Given the description of an element on the screen output the (x, y) to click on. 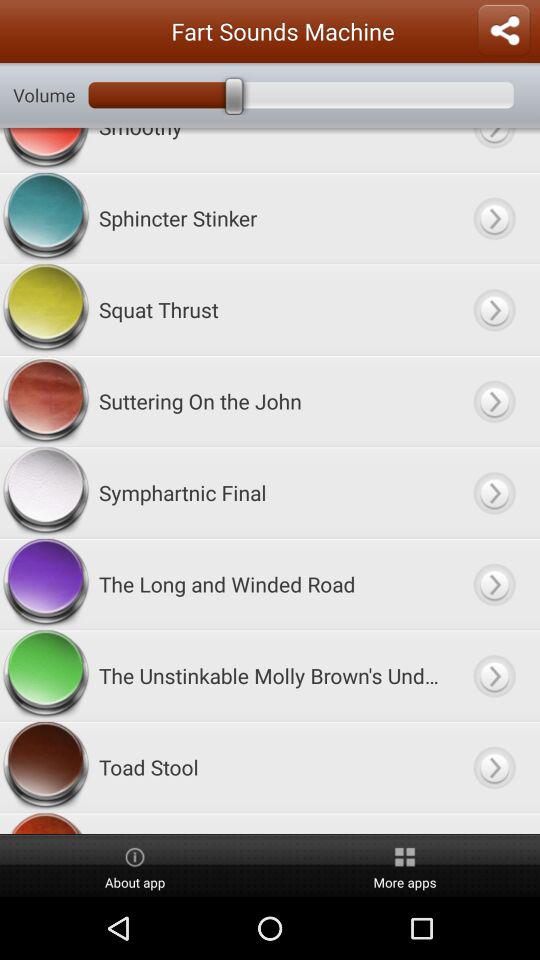
choose option (494, 149)
